Given the description of an element on the screen output the (x, y) to click on. 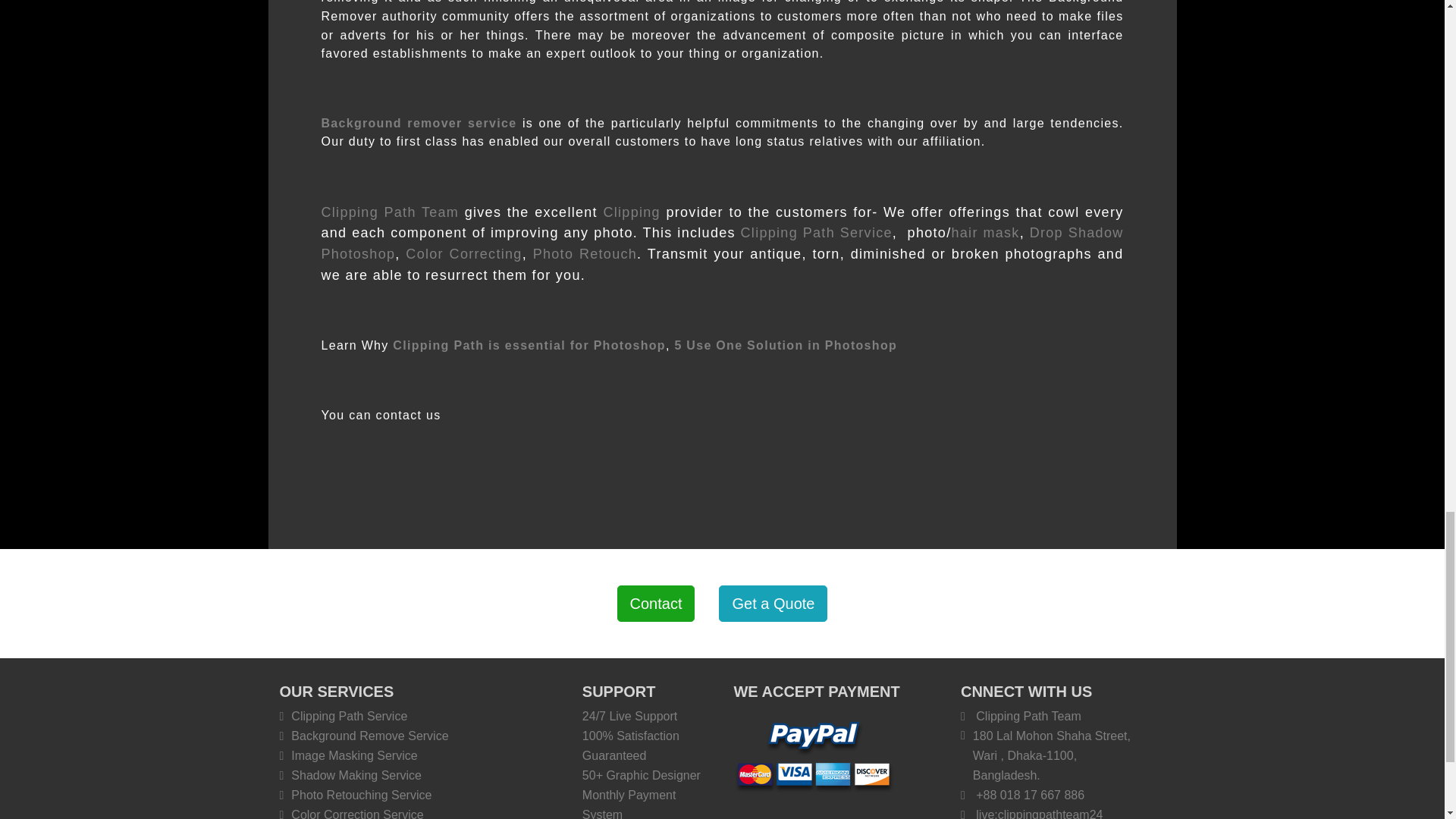
hair mask (984, 232)
Color Correcting (463, 253)
Contact (656, 603)
Clipping Path is essential for Photoshop (529, 345)
Background remover service (418, 123)
Get a Quote (773, 603)
Photo Retouch (584, 253)
5 Use One Solution in Photoshop (785, 345)
Clipping (630, 212)
Clipping Path Service (816, 232)
Drop Shadow Photoshop (722, 243)
Clipping Path Team (390, 212)
